Given the description of an element on the screen output the (x, y) to click on. 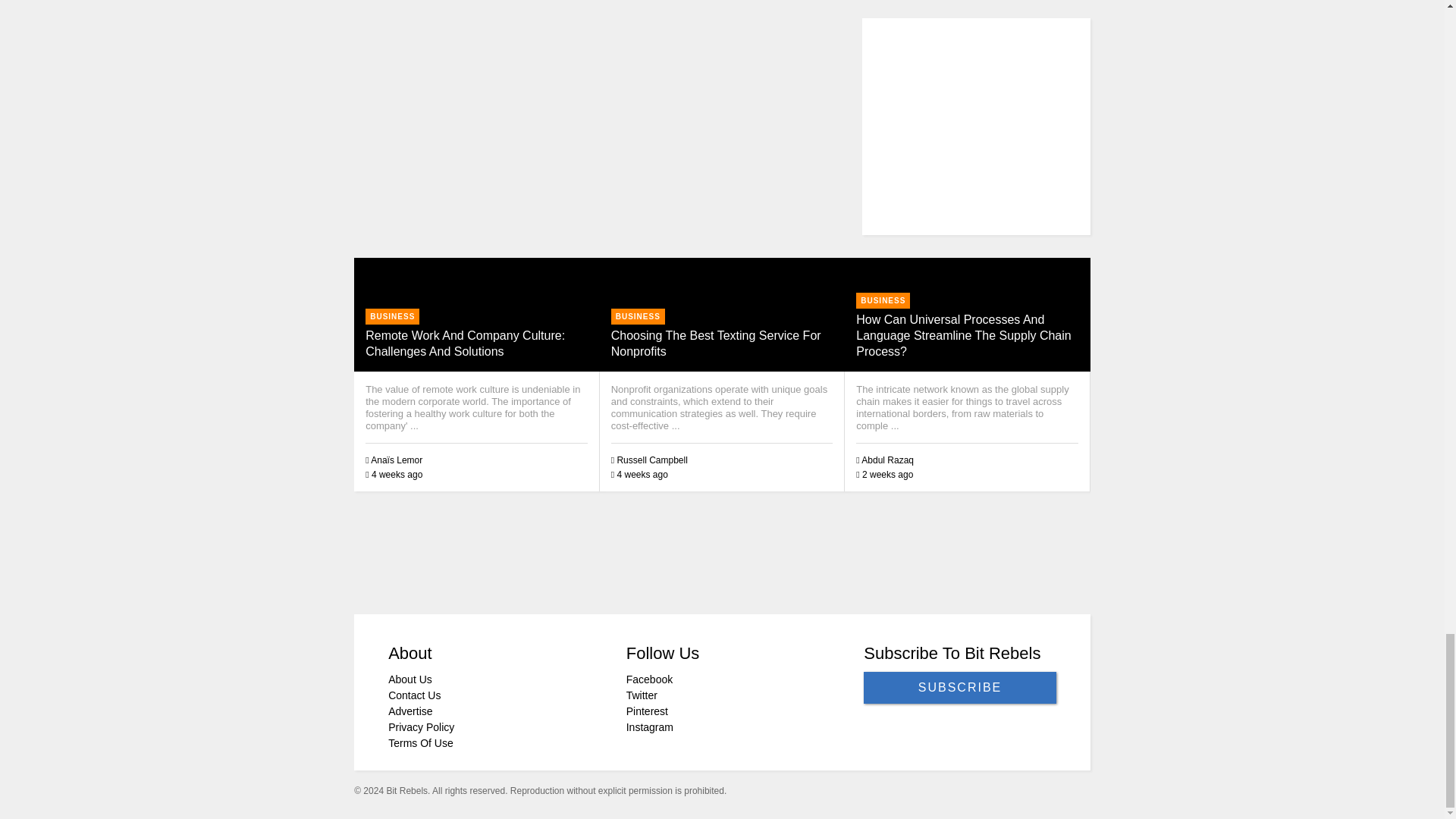
Advertisement (631, 15)
